Given the description of an element on the screen output the (x, y) to click on. 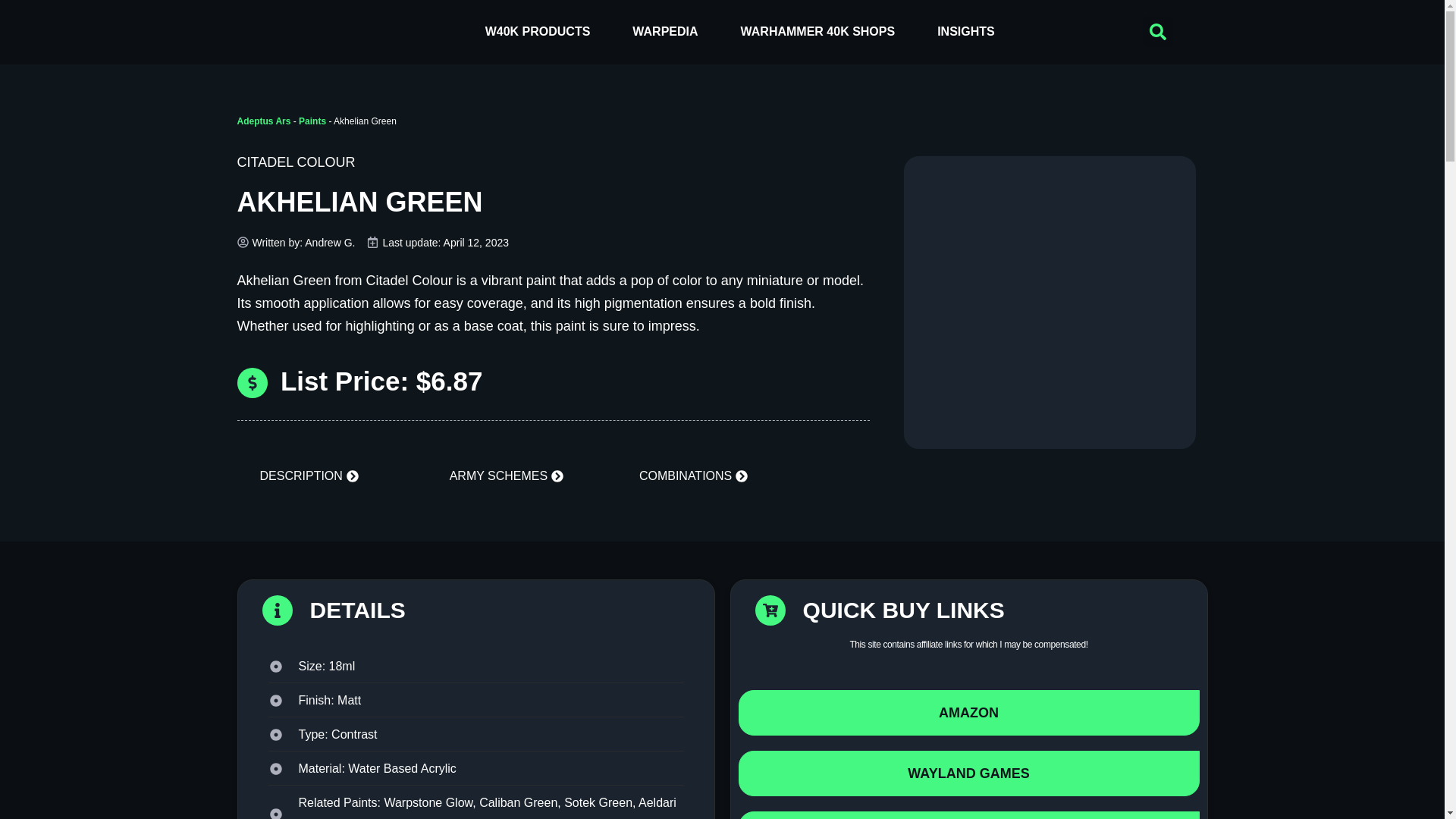
Paints (312, 121)
DESCRIPTION (307, 477)
AMAZON (968, 712)
WARPEDIA (665, 31)
INSIGHTS (965, 31)
WARHAMMER 40K SHOPS (818, 31)
COMBINATIONS (692, 477)
Adeptus Ars (262, 121)
W40K PRODUCTS (537, 31)
ARMY SCHEMES (506, 477)
